Given the description of an element on the screen output the (x, y) to click on. 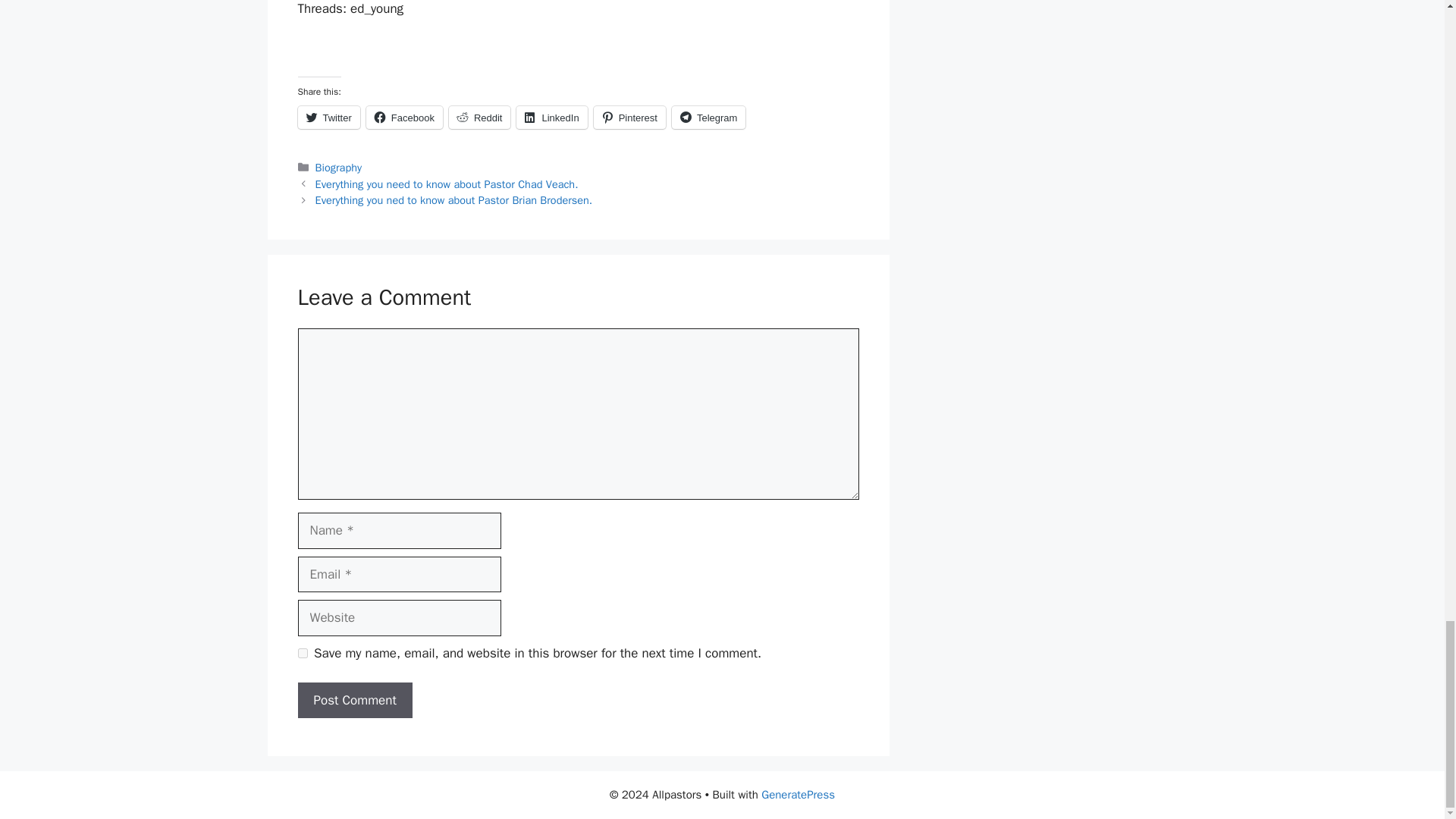
Click to share on Twitter (328, 117)
Post Comment (354, 700)
Biography (338, 167)
LinkedIn (551, 117)
Twitter (328, 117)
Click to share on Reddit (479, 117)
Everything you ned to know about Pastor Brian Brodersen. (453, 200)
Facebook (404, 117)
Post Comment (354, 700)
Reddit (479, 117)
Pinterest (629, 117)
yes (302, 653)
Click to share on Telegram (708, 117)
Click to share on LinkedIn (551, 117)
Telegram (708, 117)
